Given the description of an element on the screen output the (x, y) to click on. 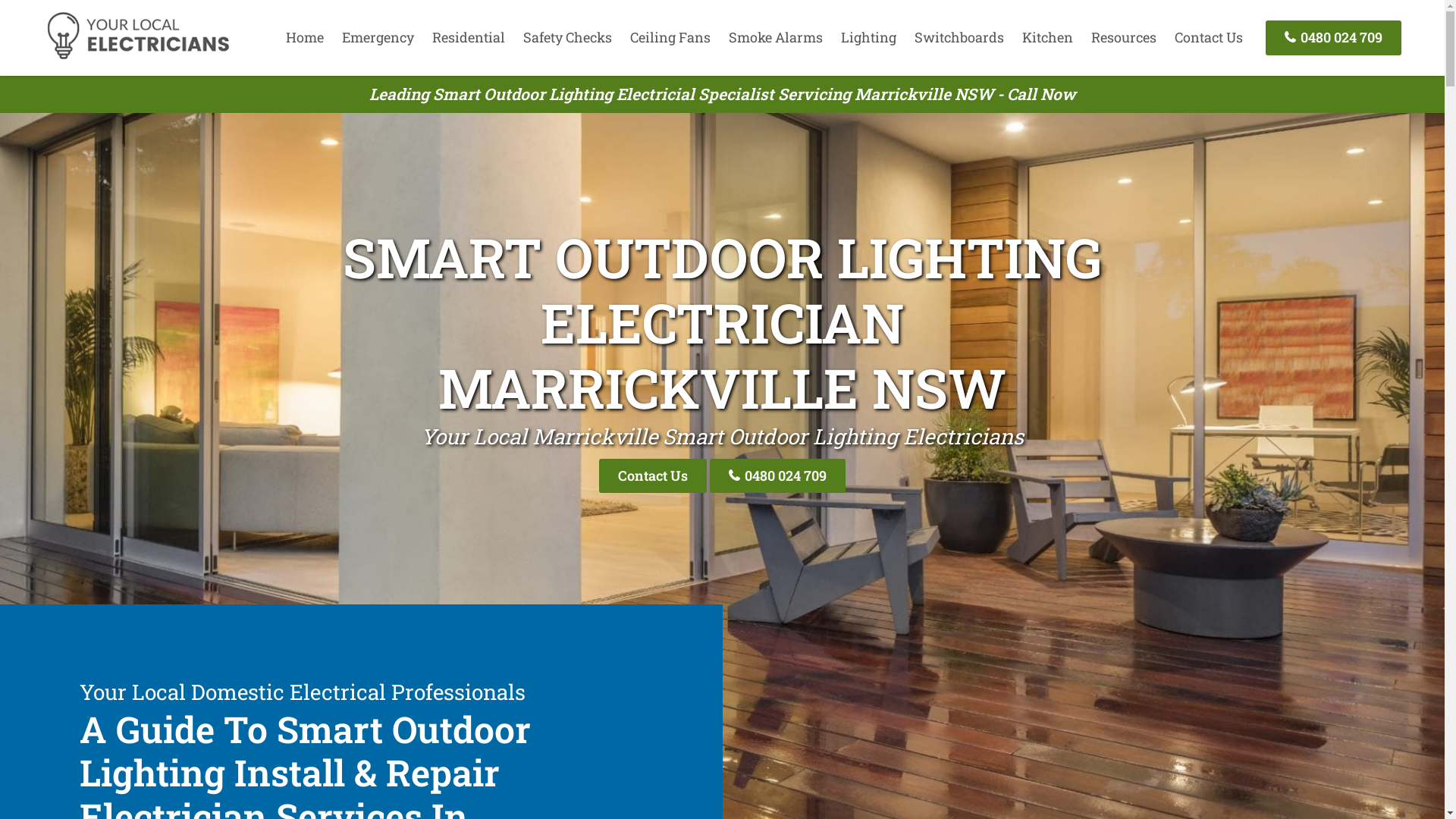
Safety Checks Element type: text (567, 37)
Kitchen Element type: text (1047, 37)
Ceiling Fans Element type: text (670, 37)
Lighting Element type: text (868, 37)
Home Element type: text (304, 37)
Electricians Element type: hover (137, 56)
Switchboards Element type: text (958, 37)
Emergency Element type: text (377, 37)
Resources Element type: text (1123, 37)
0480 024 709 Element type: text (777, 475)
Smoke Alarms Element type: text (775, 37)
0480 024 709 Element type: text (1333, 37)
Contact Us Element type: text (1208, 37)
Contact Us Element type: text (652, 475)
Residential Element type: text (468, 37)
